Given the description of an element on the screen output the (x, y) to click on. 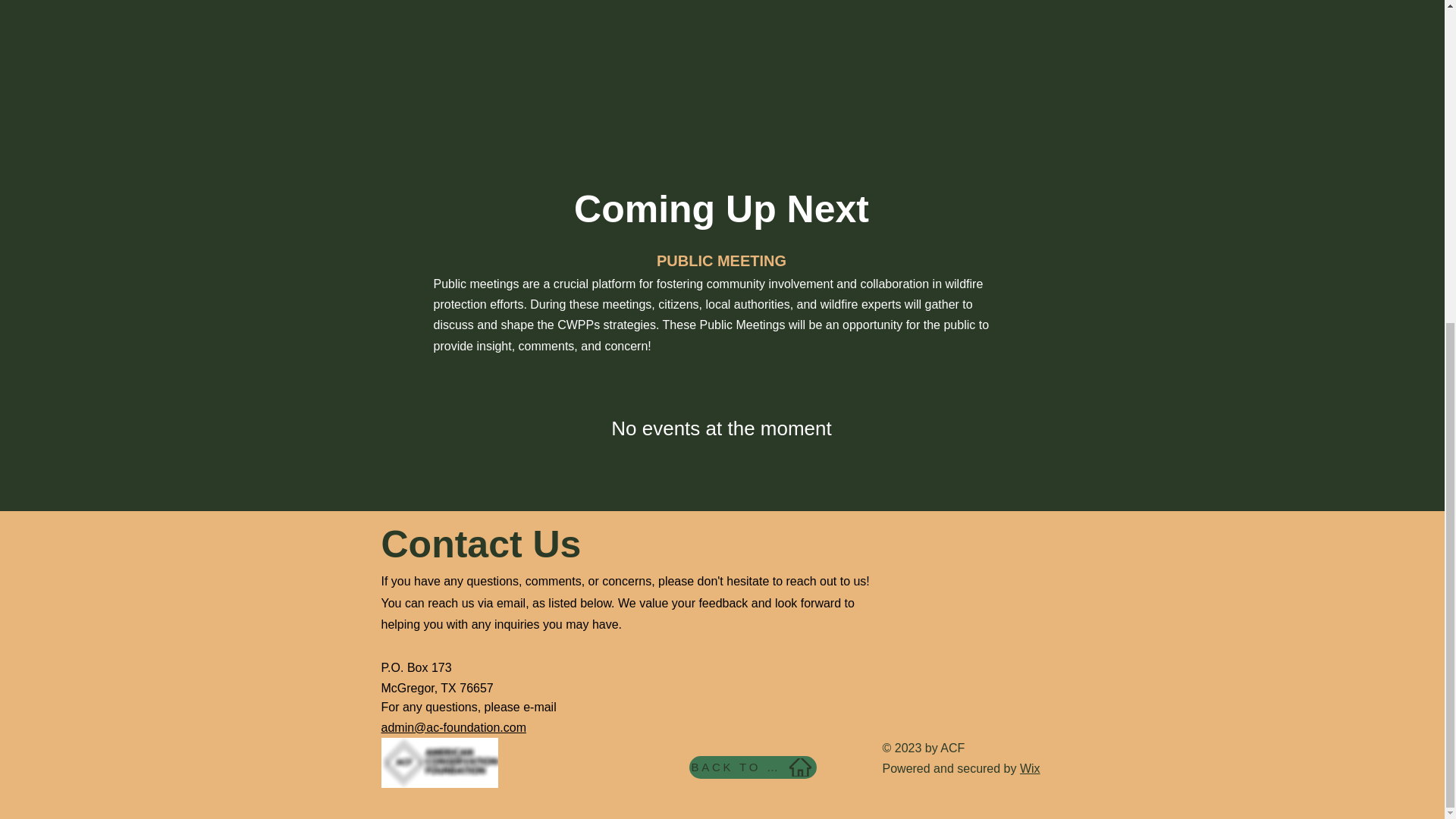
Wix (1030, 768)
BACK TO HOME (751, 766)
